Given the description of an element on the screen output the (x, y) to click on. 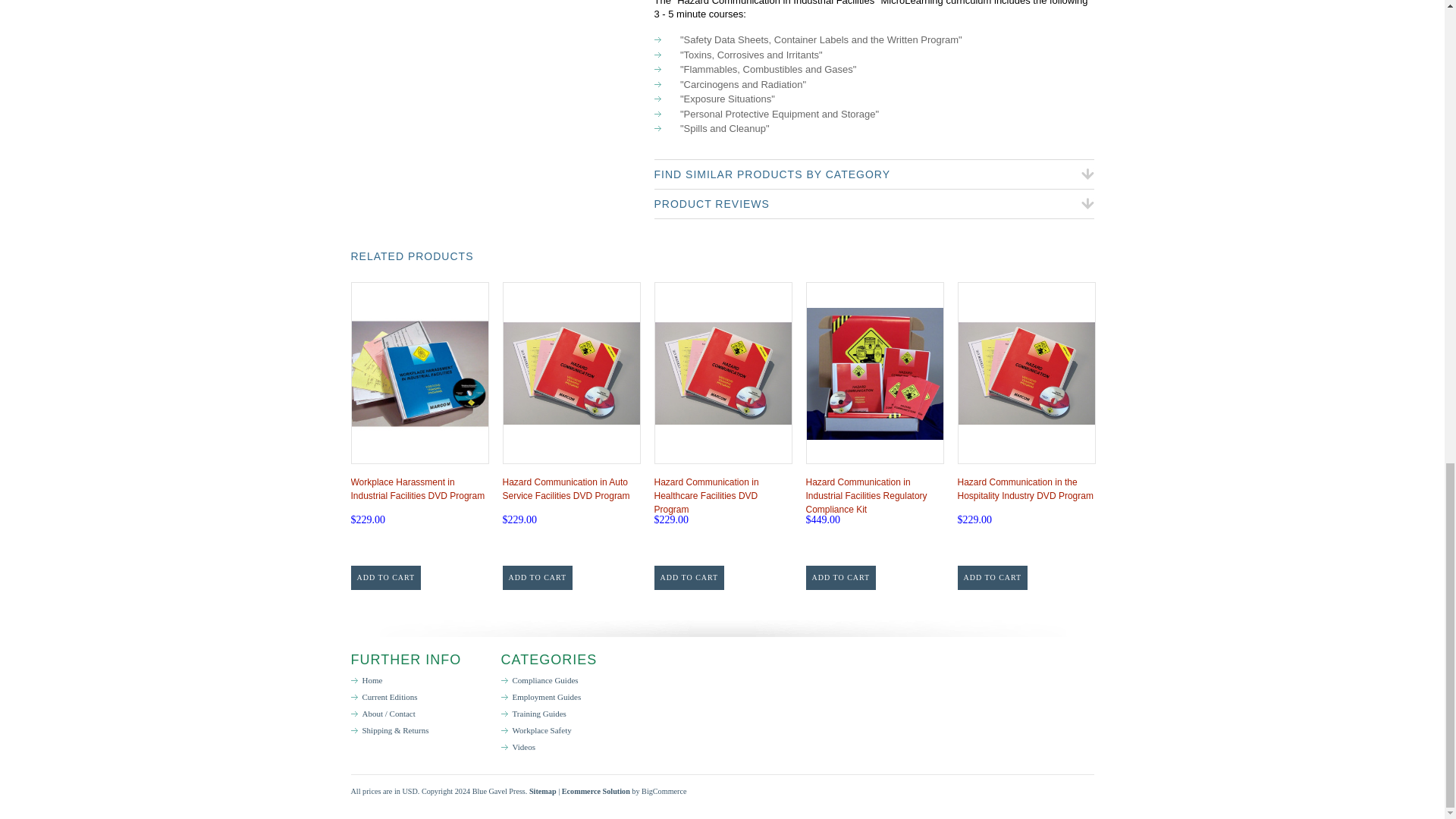
US Dollars (408, 791)
